Given the description of an element on the screen output the (x, y) to click on. 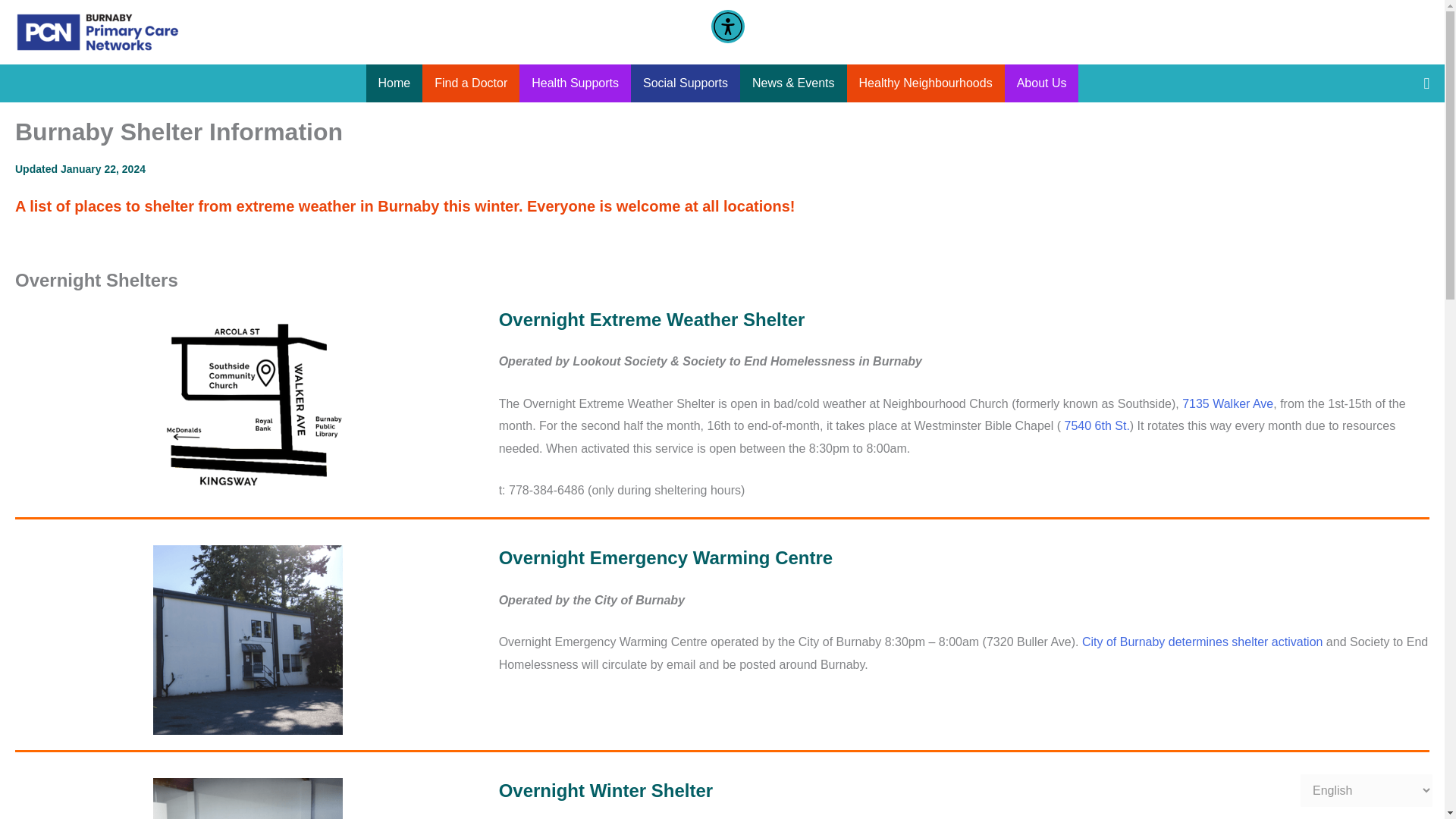
Healthy Neighbourhoods (925, 83)
Home (394, 83)
About Us (1041, 83)
Find a Doctor (470, 83)
Health Supports (574, 83)
Accessibility Menu (727, 26)
Social Supports (684, 83)
